Given the description of an element on the screen output the (x, y) to click on. 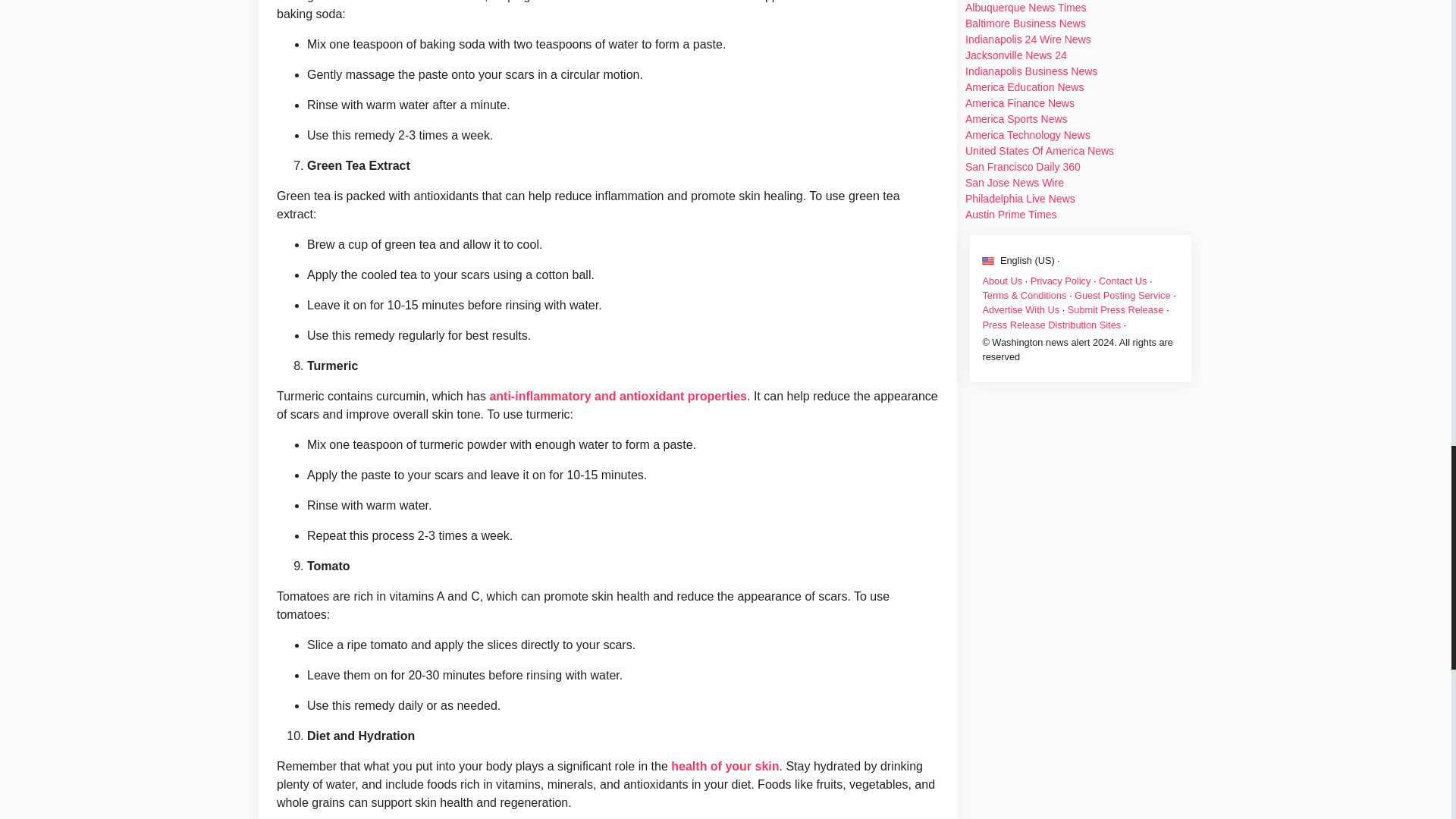
health of your skin (724, 766)
anti-inflammatory and antioxidant properties (617, 395)
